Given the description of an element on the screen output the (x, y) to click on. 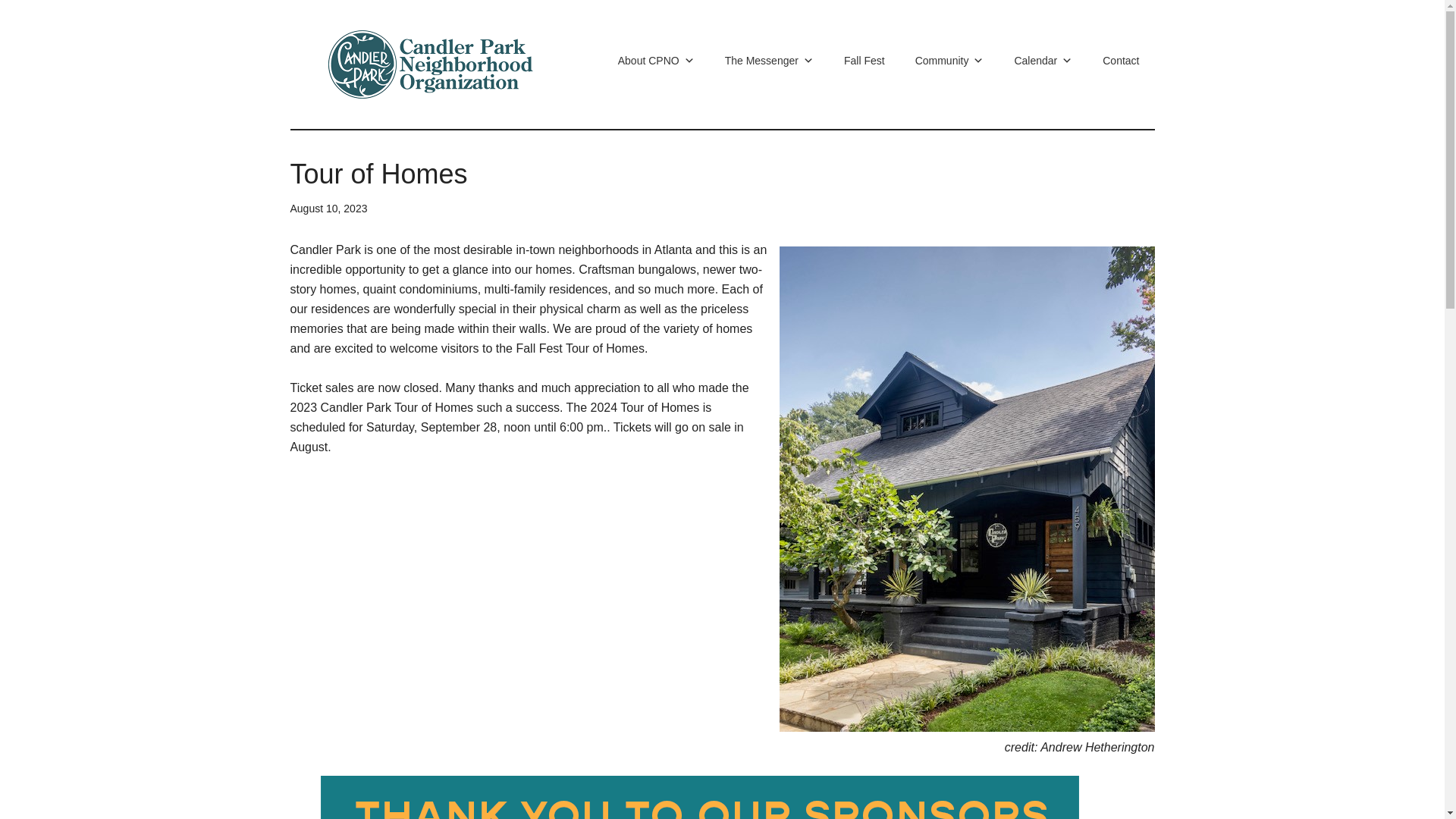
About CPNO (656, 60)
Community (948, 60)
Fall Fest (863, 60)
The Messenger (769, 60)
Candler Park (433, 64)
